Given the description of an element on the screen output the (x, y) to click on. 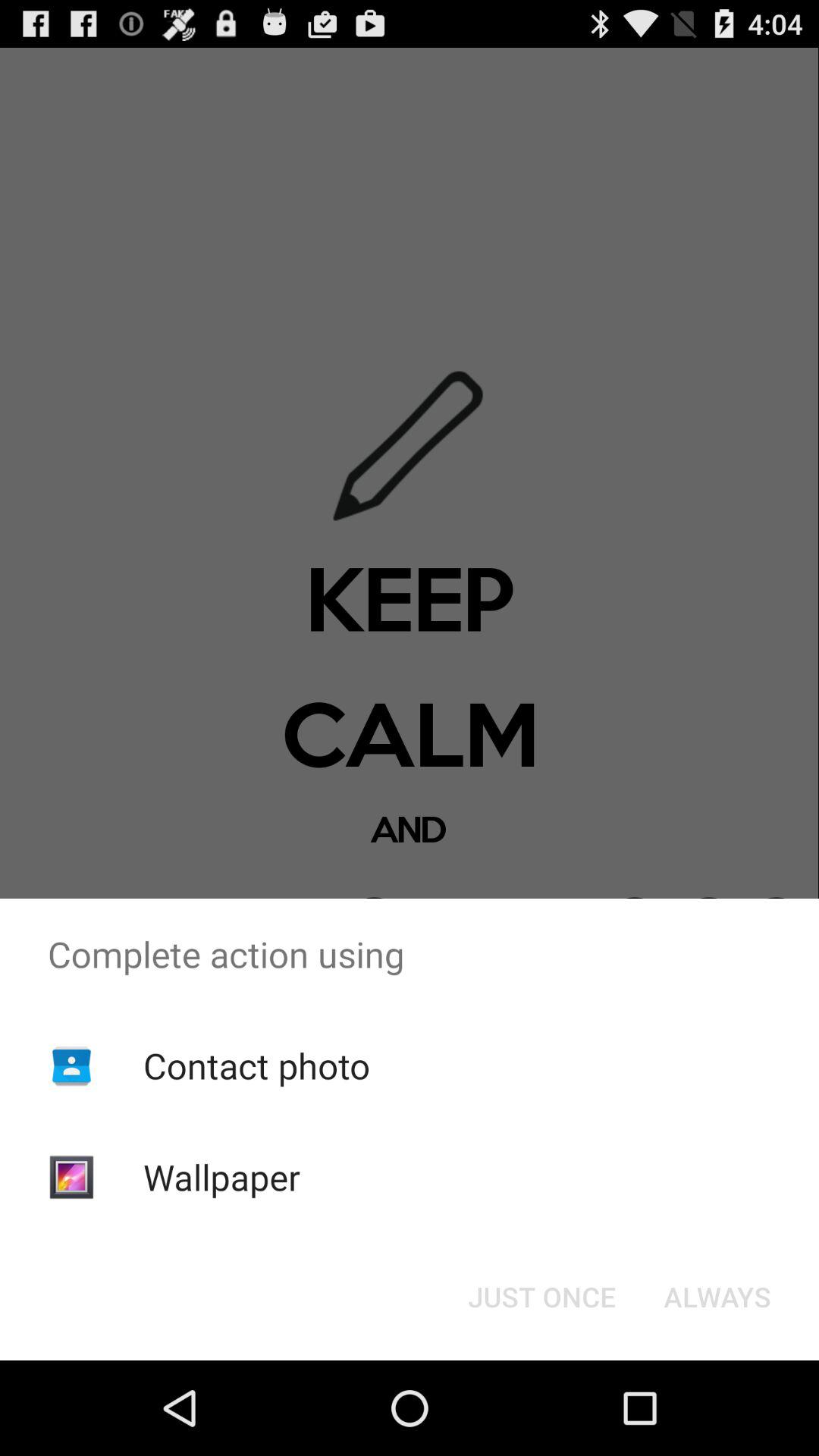
swipe until contact photo (256, 1065)
